Given the description of an element on the screen output the (x, y) to click on. 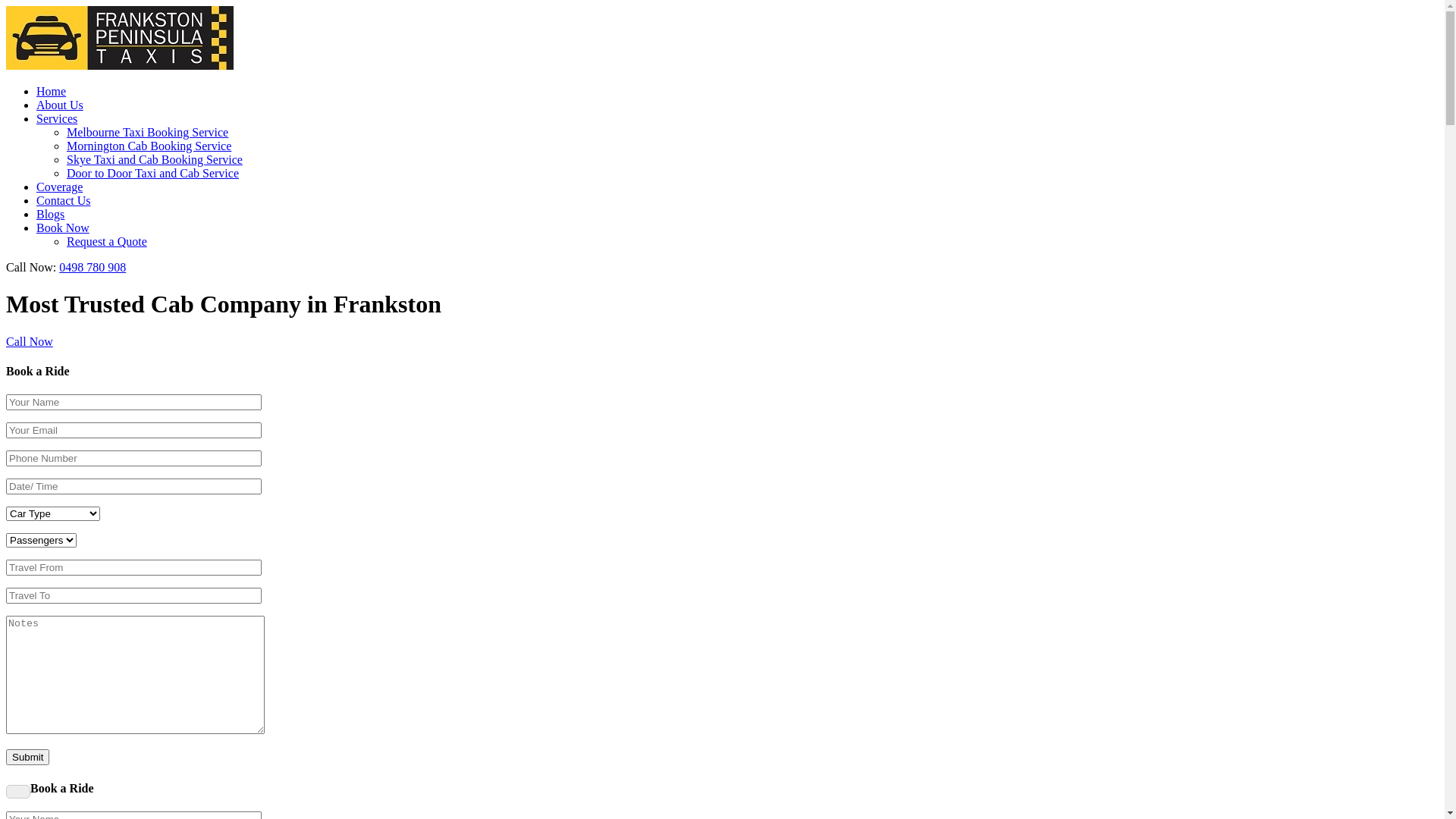
Mornington Cab Booking Service Element type: text (148, 145)
Blogs Element type: text (50, 213)
Coverage Element type: text (59, 186)
Book Now Element type: text (62, 227)
Skye Taxi and Cab Booking Service Element type: text (154, 159)
Call Now Element type: text (29, 341)
Contact Us Element type: text (63, 200)
Home Element type: text (50, 90)
Submit Element type: text (27, 757)
Services Element type: text (56, 118)
Melbourne Taxi Booking Service Element type: text (147, 131)
About Us Element type: text (59, 104)
Request a Quote Element type: text (106, 241)
0498 780 908 Element type: text (92, 266)
Door to Door Taxi and Cab Service Element type: text (152, 172)
